Given the description of an element on the screen output the (x, y) to click on. 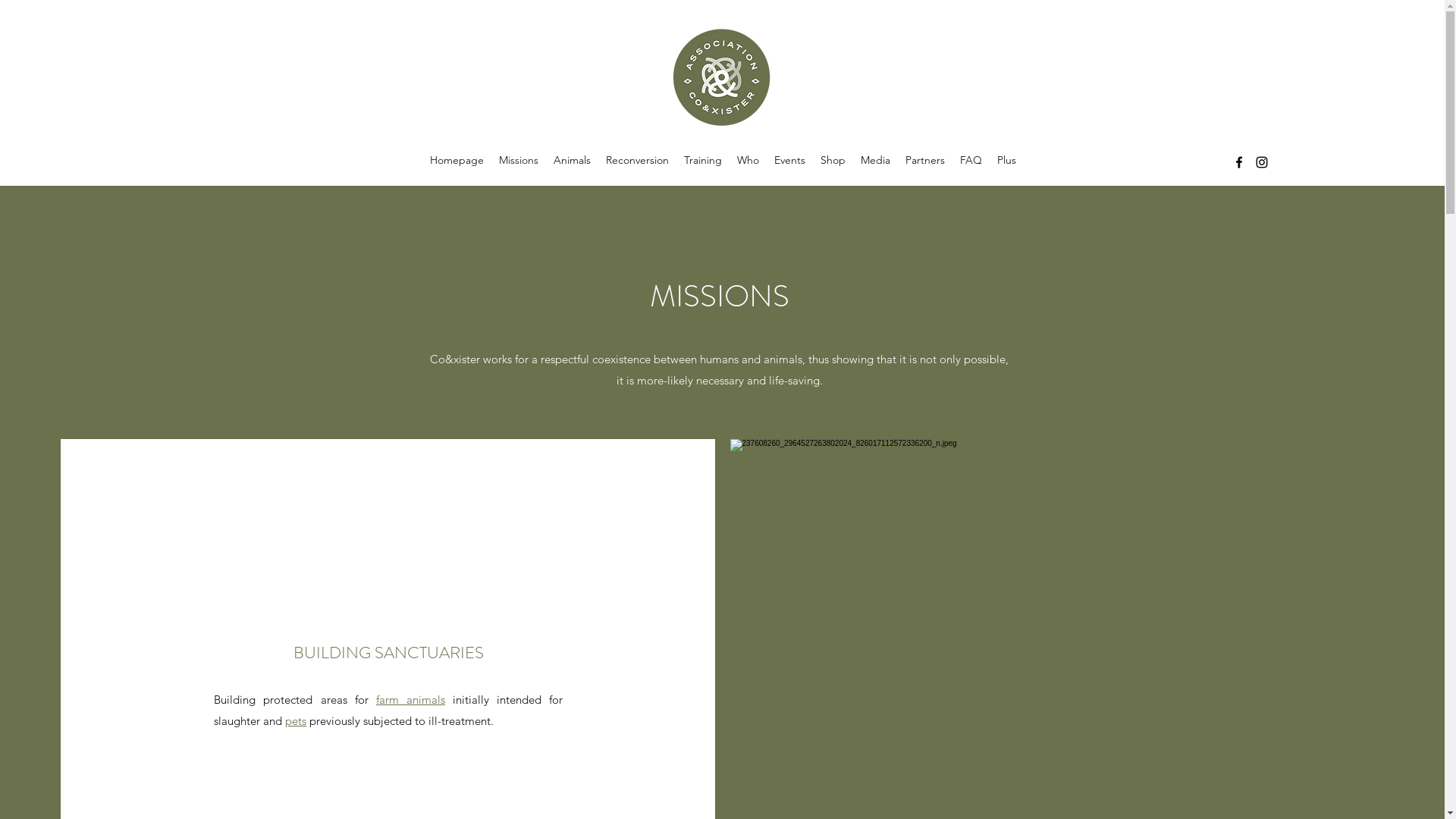
Partners Element type: text (924, 161)
Homepage Element type: text (455, 161)
Events Element type: text (788, 161)
Media Element type: text (874, 161)
Reconversion Element type: text (636, 161)
Shop Element type: text (832, 161)
Animals Element type: text (572, 161)
farm animals Element type: text (410, 699)
FAQ Element type: text (970, 161)
Missions Element type: text (518, 161)
Who Element type: text (747, 161)
pets Element type: text (295, 720)
Training Element type: text (702, 161)
